Given the description of an element on the screen output the (x, y) to click on. 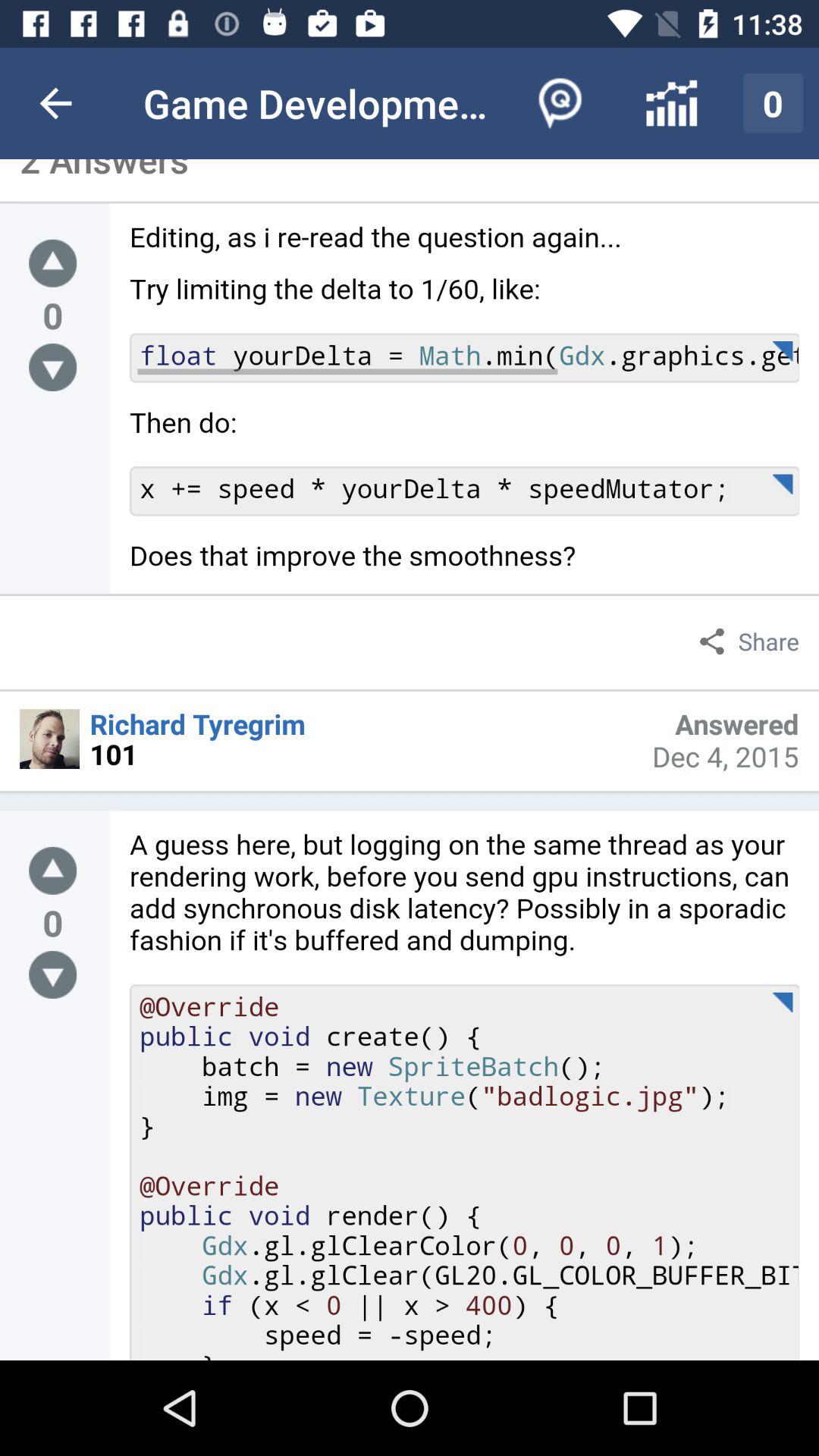
go to (52, 367)
